Given the description of an element on the screen output the (x, y) to click on. 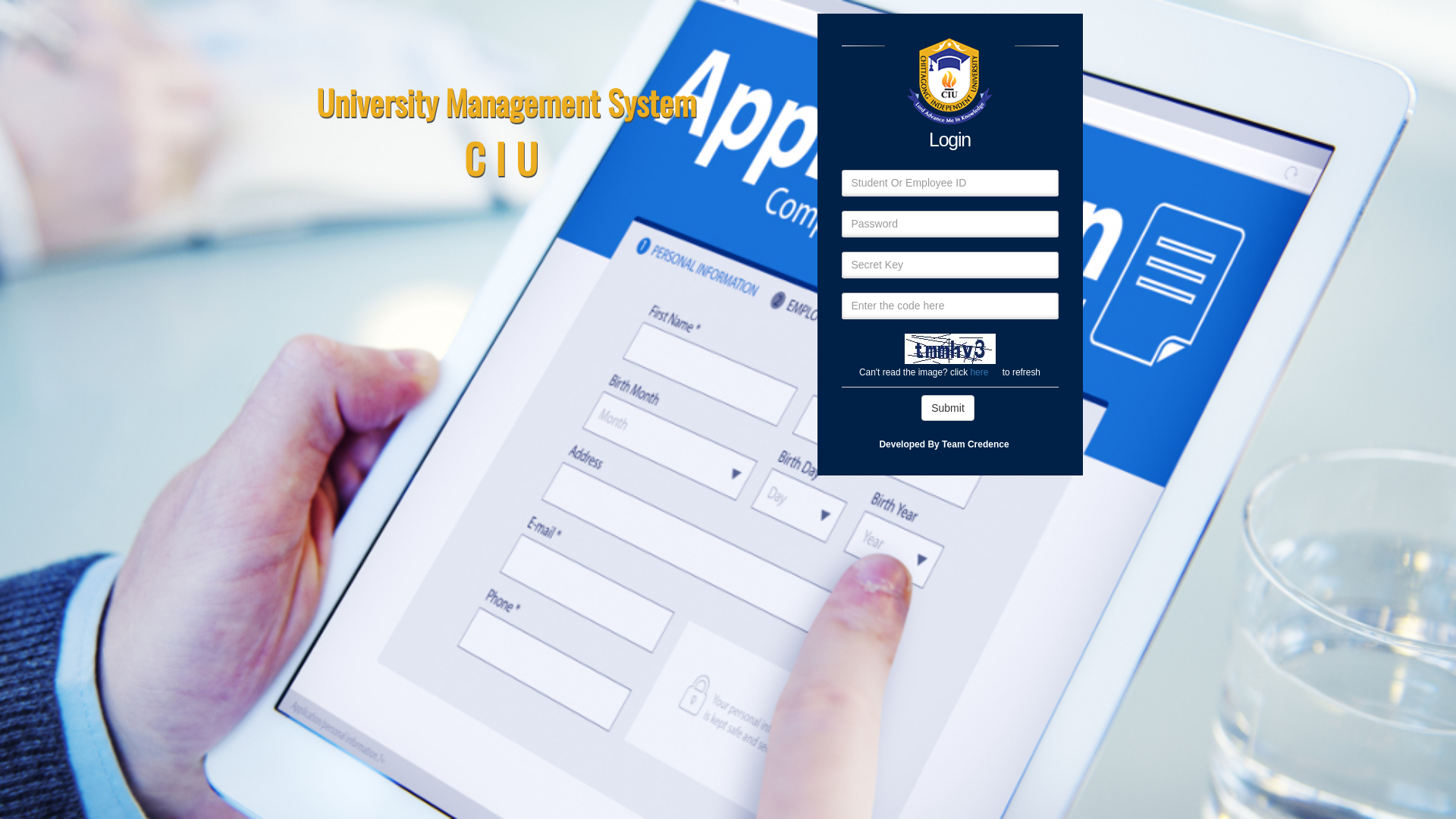
Developed By Team Credence Element type: text (943, 444)
here Element type: text (978, 372)
